Given the description of an element on the screen output the (x, y) to click on. 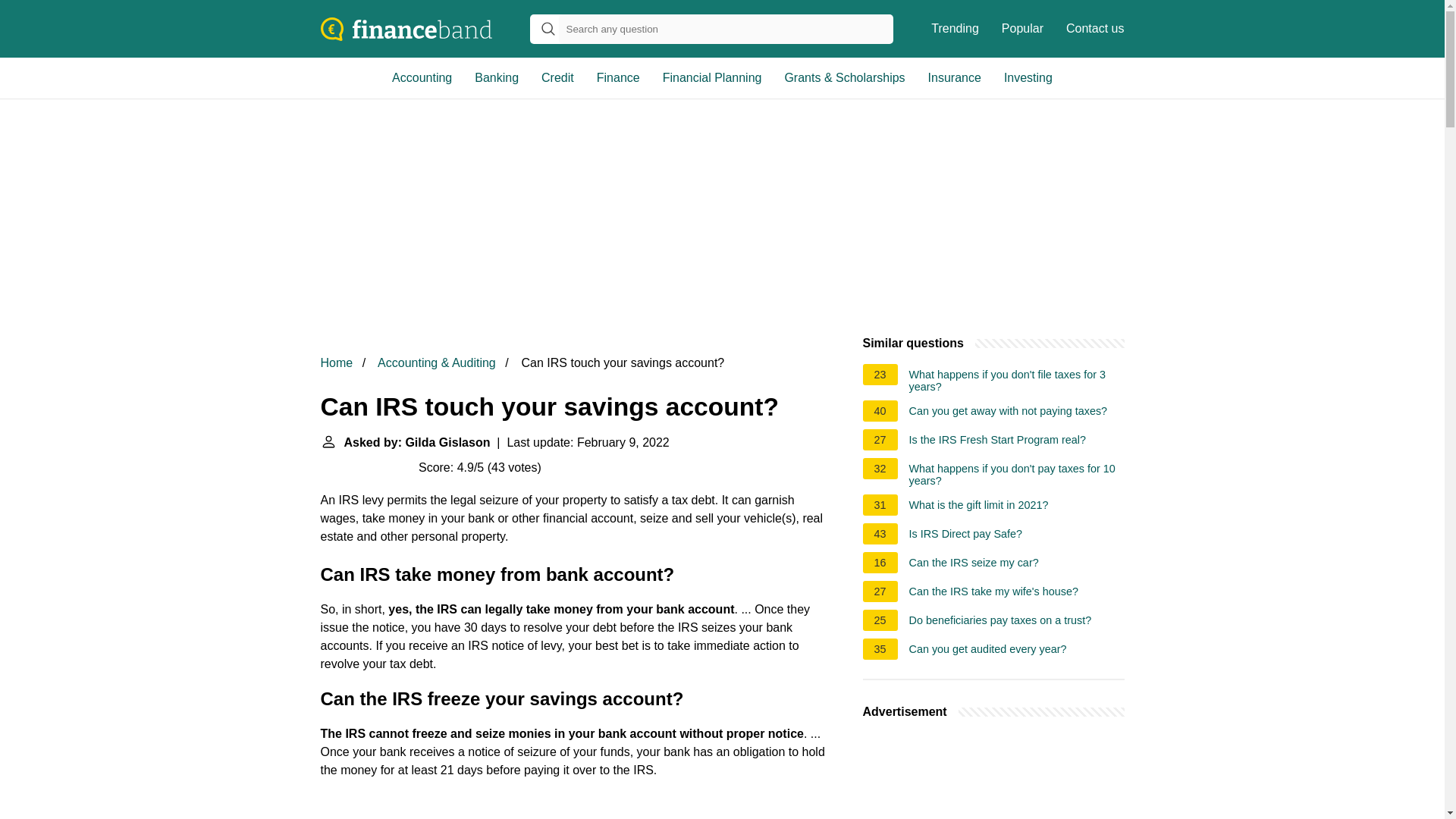
Is the IRS Fresh Start Program real? (997, 442)
Can the IRS seize my car? (973, 564)
Accounting (421, 77)
Banking (496, 77)
Insurance (954, 77)
Do beneficiaries pay taxes on a trust? (1000, 622)
Is IRS Direct pay Safe? (965, 535)
What happens if you don't pay taxes for 10 years? (1016, 474)
Finance (617, 77)
What happens if you don't file taxes for 3 years? (1016, 380)
